Given the description of an element on the screen output the (x, y) to click on. 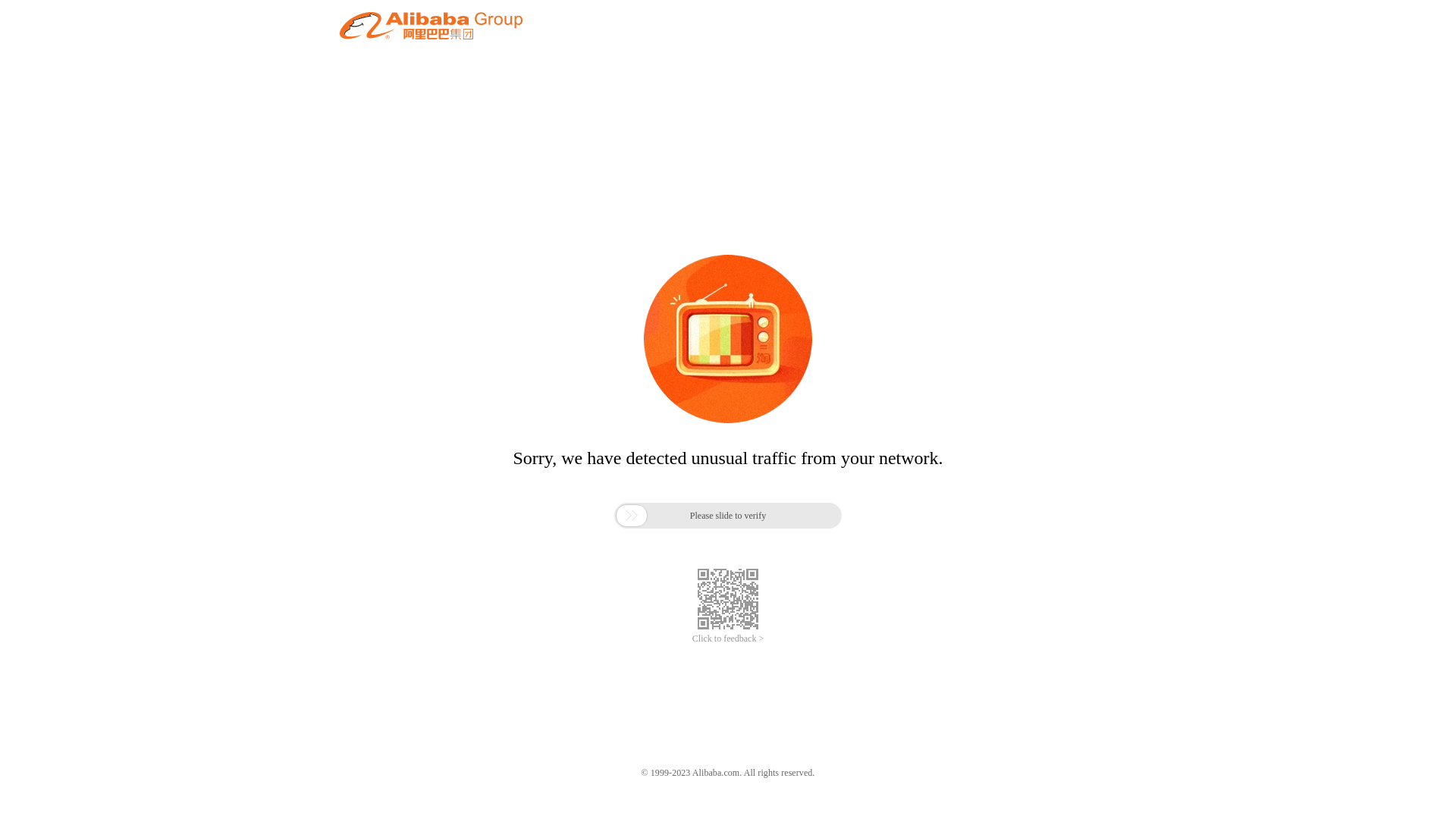
Click to feedback > Element type: text (727, 638)
